Given the description of an element on the screen output the (x, y) to click on. 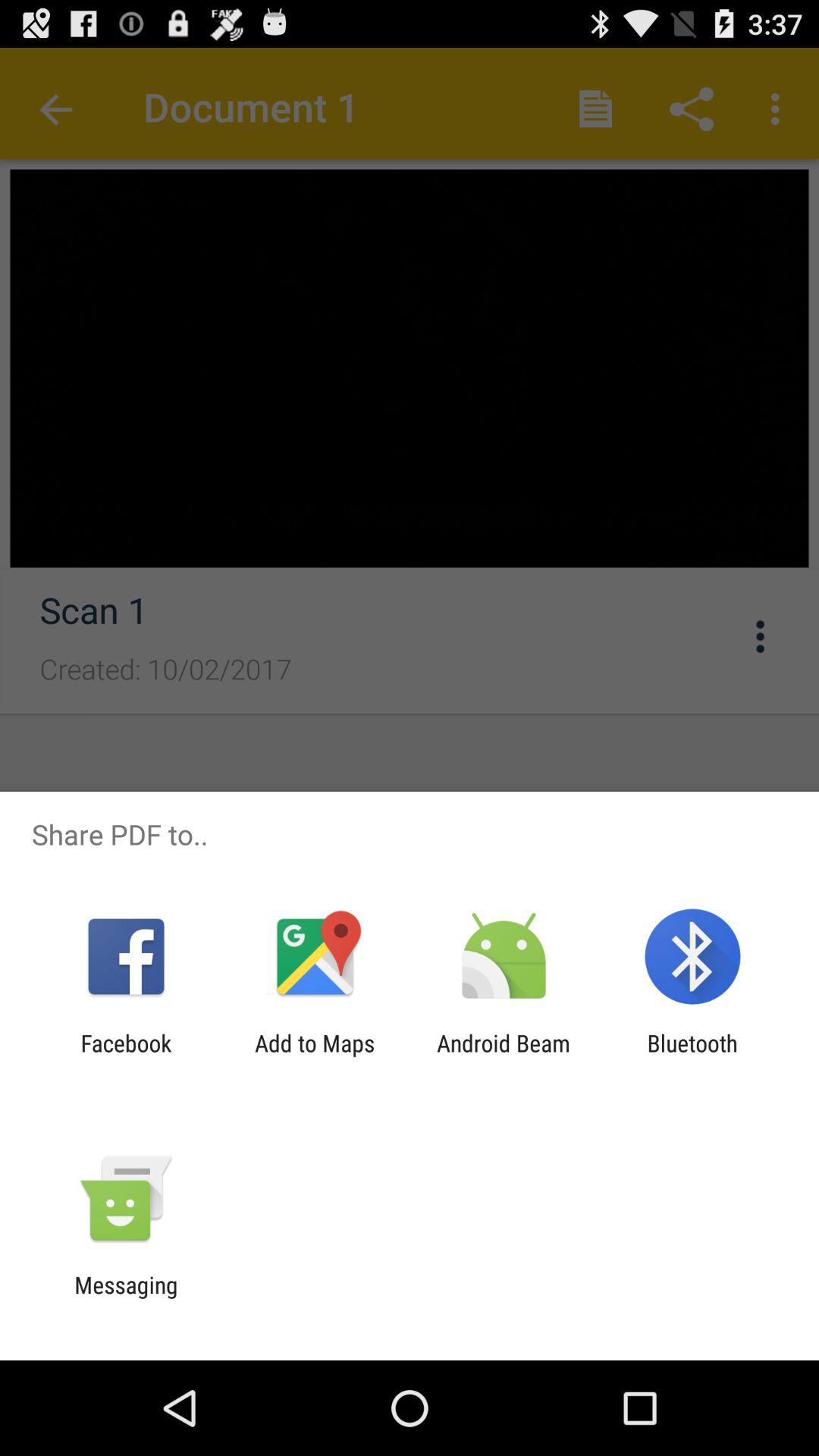
tap the icon to the right of facebook item (314, 1056)
